Given the description of an element on the screen output the (x, y) to click on. 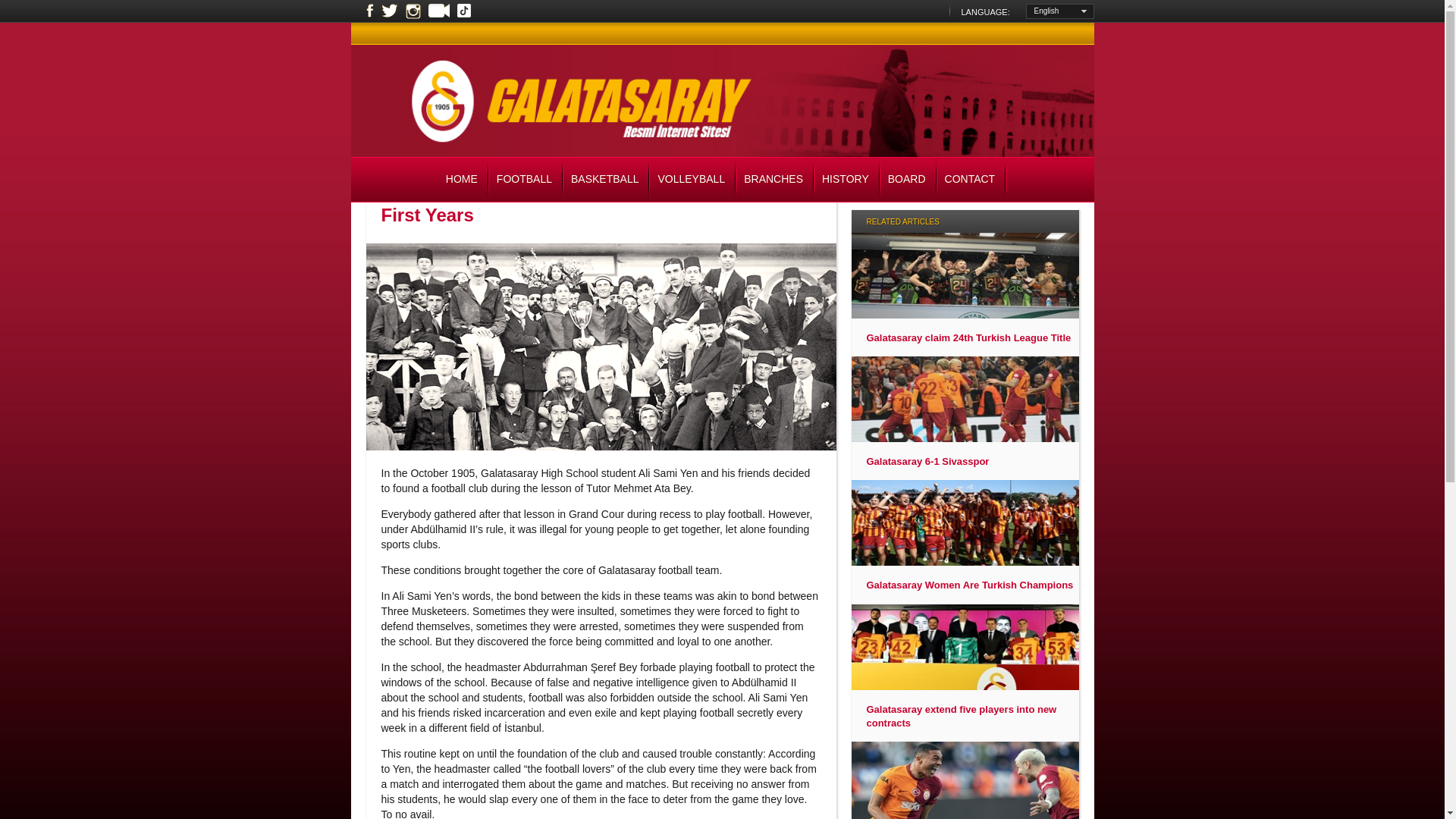
Galatasaray extend five players into new contracts (972, 716)
Galatasaray 6-1 Sivasspor (927, 461)
Galatasaray Women Are Turkish Champions (969, 585)
HOME (463, 180)
FOOTBALL (526, 180)
Instagram (412, 11)
BASKETBALL (606, 180)
HISTORY (846, 180)
BOARD (908, 180)
VOLLEYBALL (692, 180)
